Given the description of an element on the screen output the (x, y) to click on. 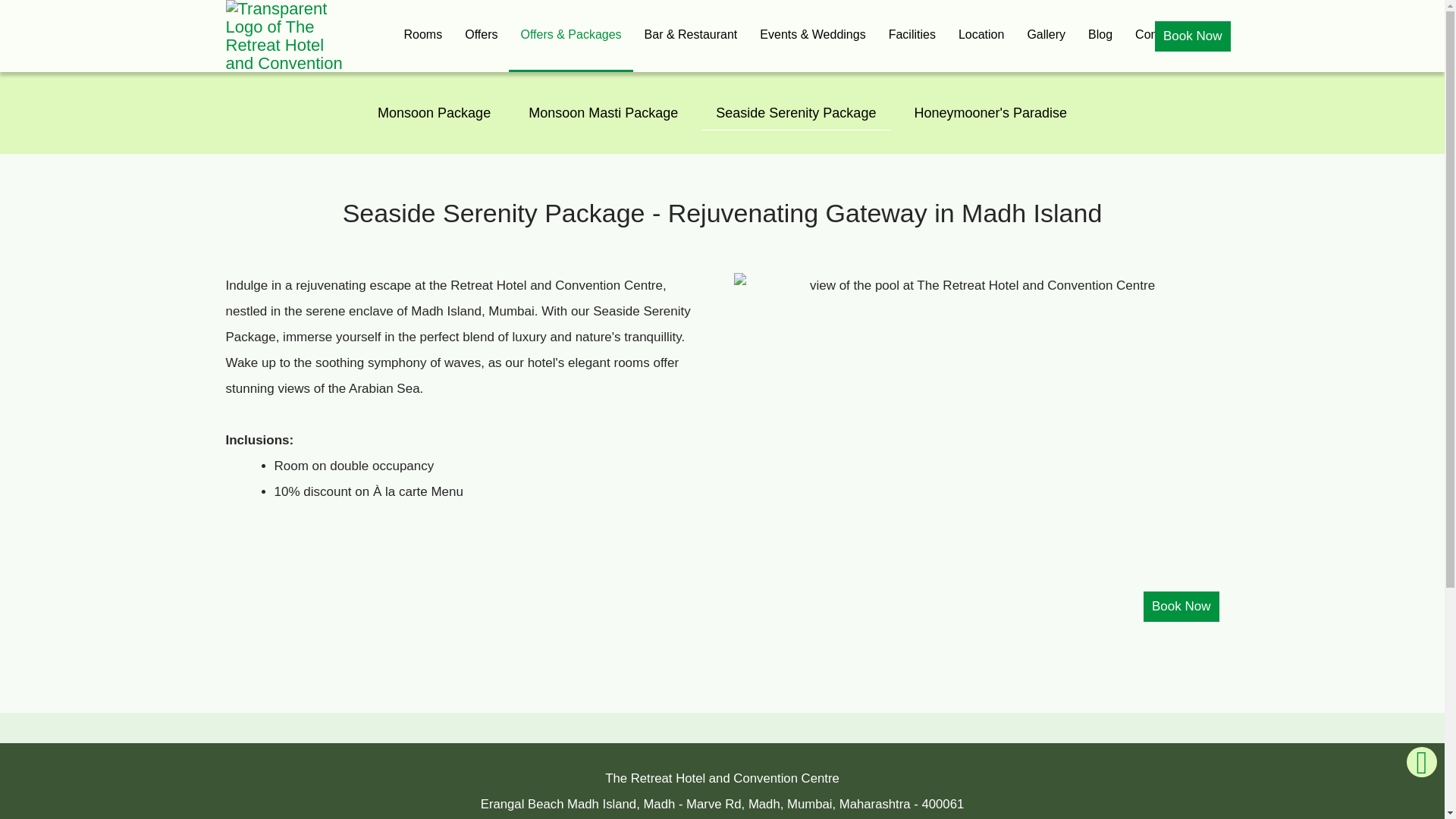
Offers (480, 36)
Contact Us (1165, 36)
Gallery (1045, 36)
Location (981, 36)
Rooms (423, 36)
Honeymooner's Paradise (989, 112)
Book Now (1192, 36)
Book Now (1180, 606)
Book Now (1192, 36)
Seaside Serenity Package (795, 112)
Monsoon Masti Package (603, 112)
Book Now (1180, 606)
Monsoon Package (433, 112)
Blog (1100, 36)
Facilities (912, 36)
